Given the description of an element on the screen output the (x, y) to click on. 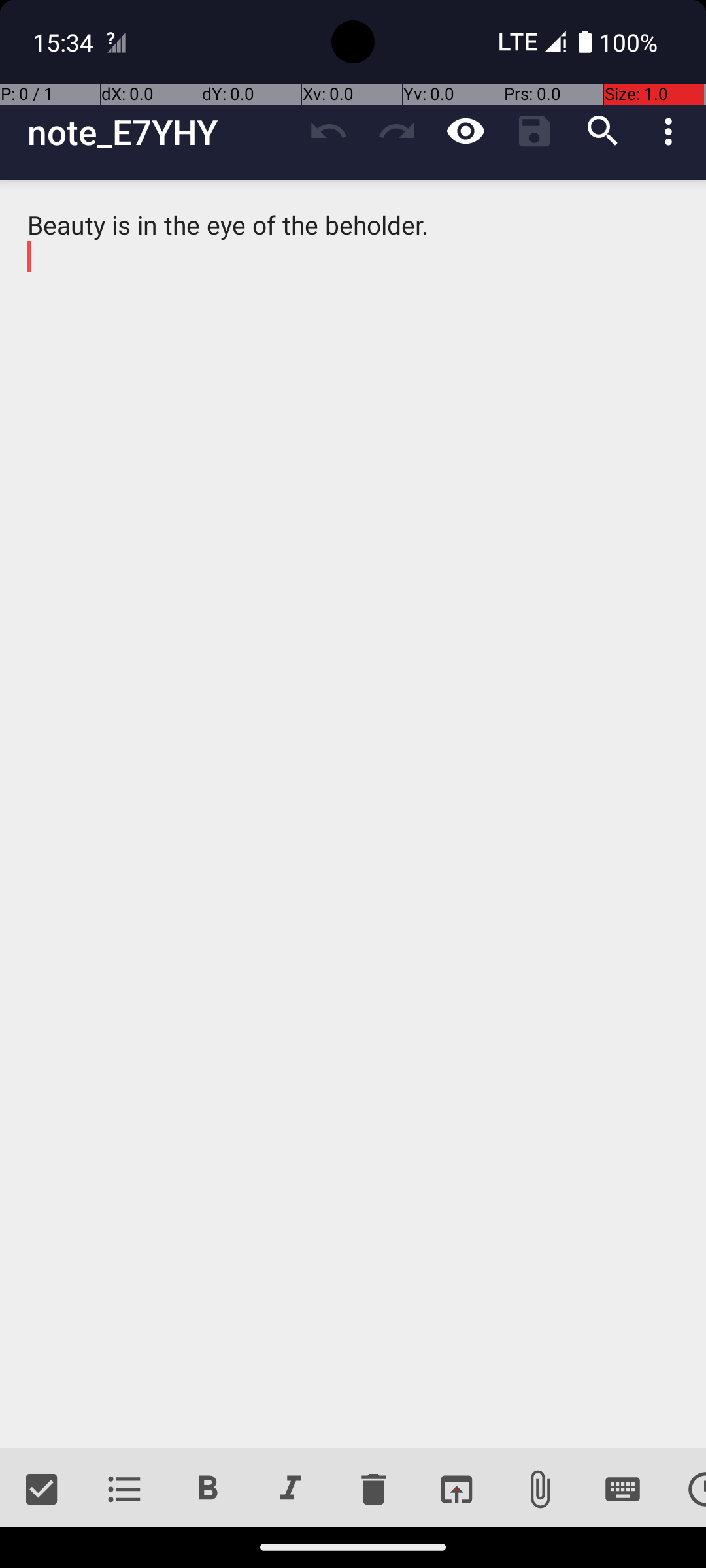
note_E7YHY Element type: android.widget.TextView (160, 131)
Beauty is in the eye of the beholder.
 Element type: android.widget.EditText (353, 813)
